Given the description of an element on the screen output the (x, y) to click on. 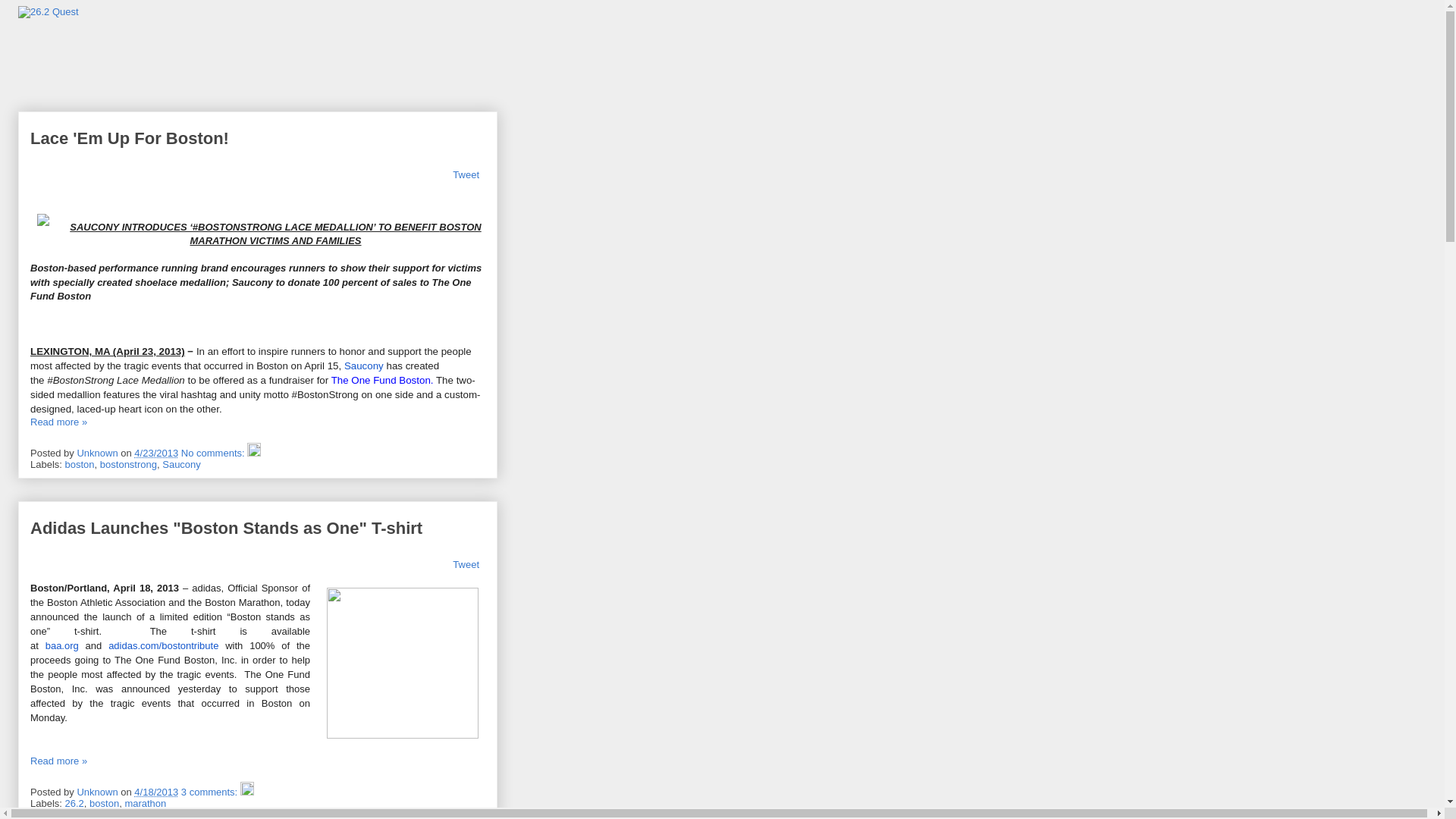
marathon Element type: text (145, 803)
No comments: Element type: text (214, 452)
4/18/2013 Element type: text (156, 791)
4/23/2013 Element type: text (156, 452)
baa.org Element type: text (61, 645)
boston Element type: text (104, 803)
bostonstrong Element type: text (128, 464)
The One Fund Boston. Element type: text (382, 379)
Tweet Element type: text (465, 174)
Adidas Launches "Boston Stands as One" T-shirt Element type: text (226, 527)
Saucony Element type: text (181, 464)
26.2 Element type: text (74, 803)
Unknown Element type: text (98, 452)
Edit Post Element type: hover (247, 791)
Lace 'Em Up For Boston! Element type: text (129, 137)
Unknown Element type: text (98, 791)
Tweet Element type: text (465, 564)
Saucony Element type: text (363, 365)
3 comments: Element type: text (210, 791)
boston Element type: text (79, 464)
Edit Post Element type: hover (253, 452)
adidas.com/bostontribute Element type: text (163, 645)
